Given the description of an element on the screen output the (x, y) to click on. 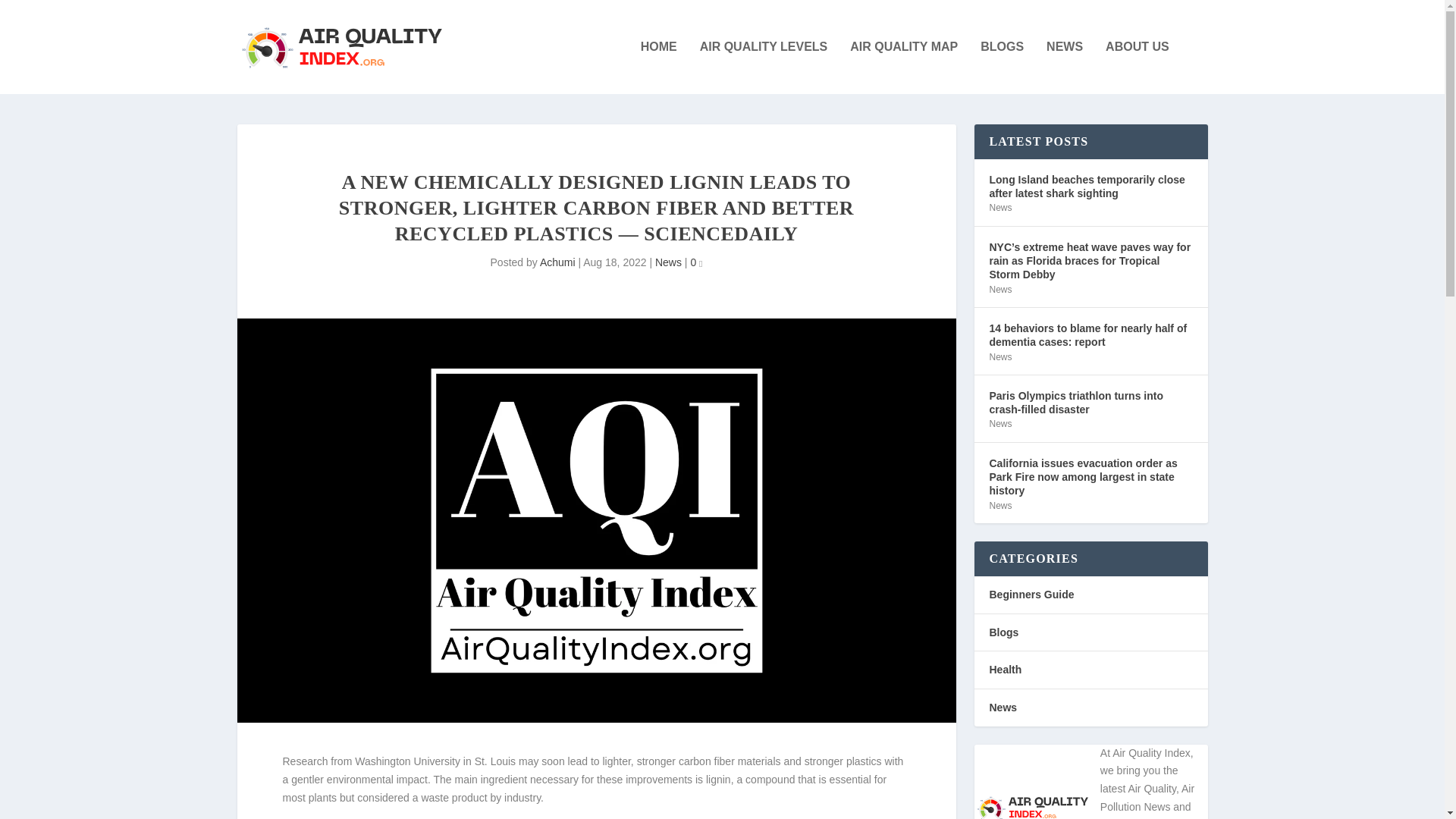
News (999, 207)
News (999, 357)
News (999, 289)
ABOUT US (1137, 67)
AIR QUALITY LEVELS (764, 67)
News (668, 262)
AIR QUALITY MAP (904, 67)
Achumi (557, 262)
0 (695, 262)
Posts by Achumi (557, 262)
